Given the description of an element on the screen output the (x, y) to click on. 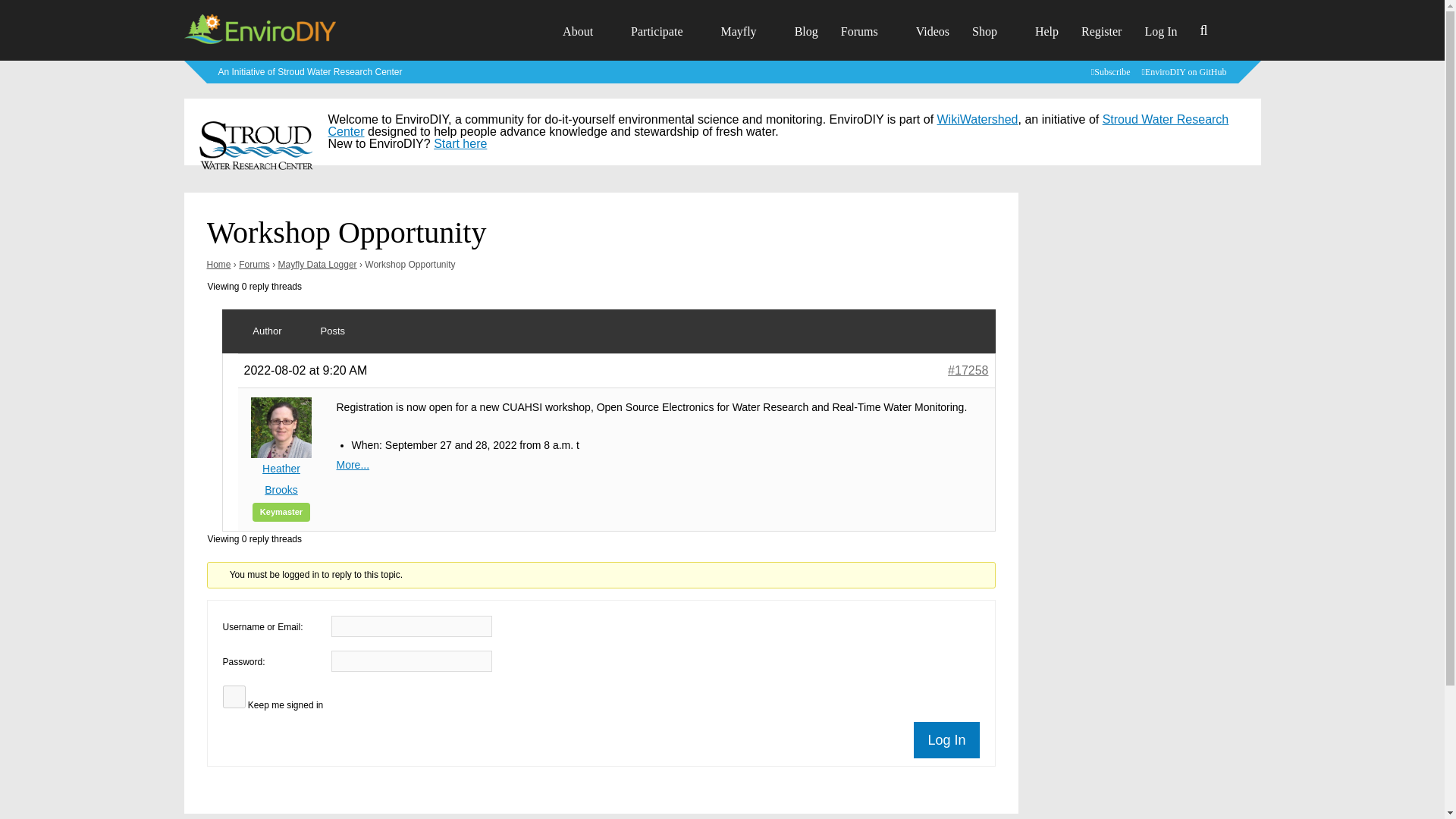
forever (234, 696)
EnviroDIY on GitHub (1185, 71)
EnviroDIY (258, 42)
Learn more (310, 71)
